Given the description of an element on the screen output the (x, y) to click on. 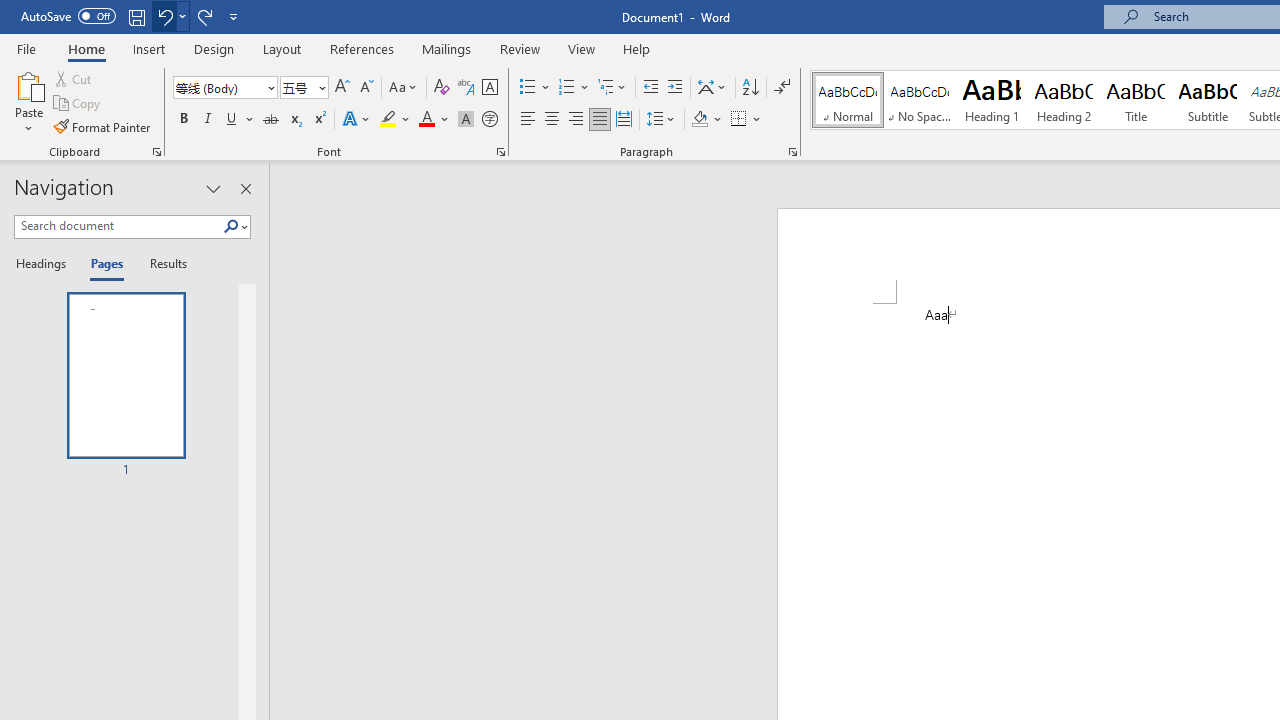
Sort... (750, 87)
Phonetic Guide... (465, 87)
Show/Hide Editing Marks (781, 87)
Paragraph... (792, 151)
Align Left (527, 119)
Numbering (566, 87)
Clear Formatting (442, 87)
Undo Increase Indent (164, 15)
Shading RGB(0, 0, 0) (699, 119)
Close pane (246, 188)
Open (320, 87)
Heading 1 (991, 100)
Format Painter (103, 126)
Cut (73, 78)
Font (224, 87)
